Given the description of an element on the screen output the (x, y) to click on. 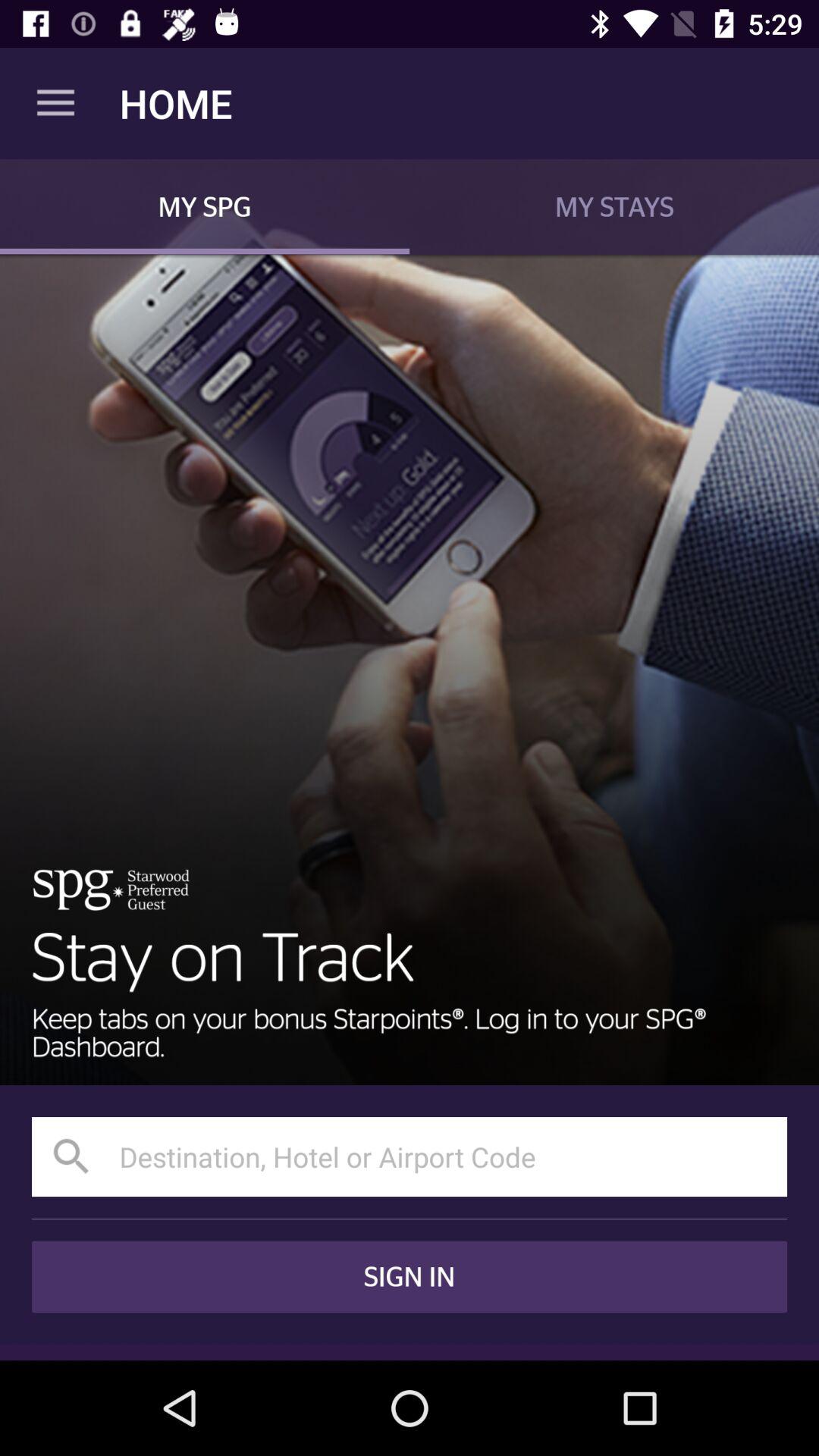
destination hotel or airport code (409, 1156)
